Given the description of an element on the screen output the (x, y) to click on. 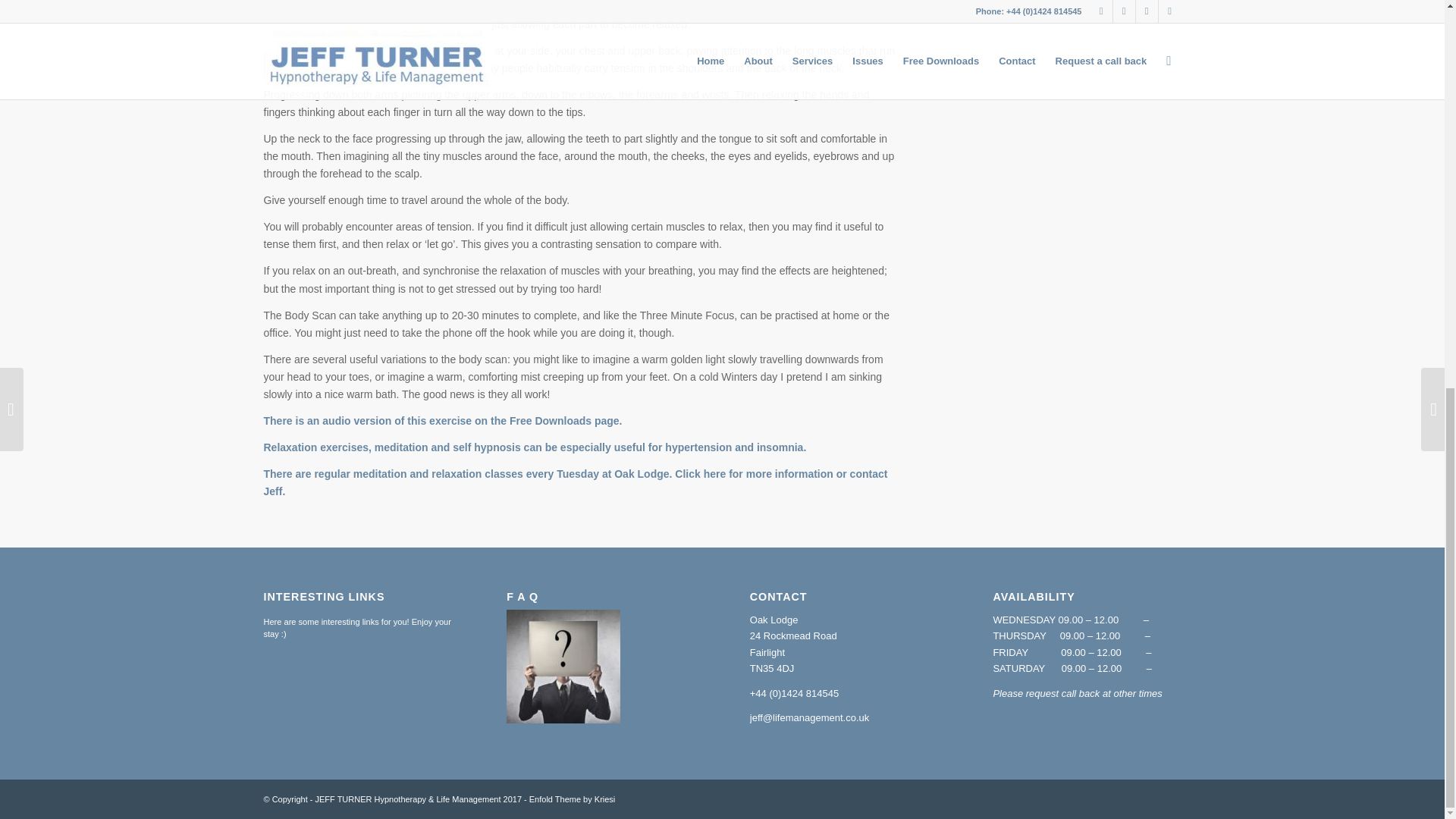
TN35 4DJ (771, 668)
Oak Lodge (773, 619)
Fairlight (766, 652)
24 Rockmead Road (793, 635)
